Given the description of an element on the screen output the (x, y) to click on. 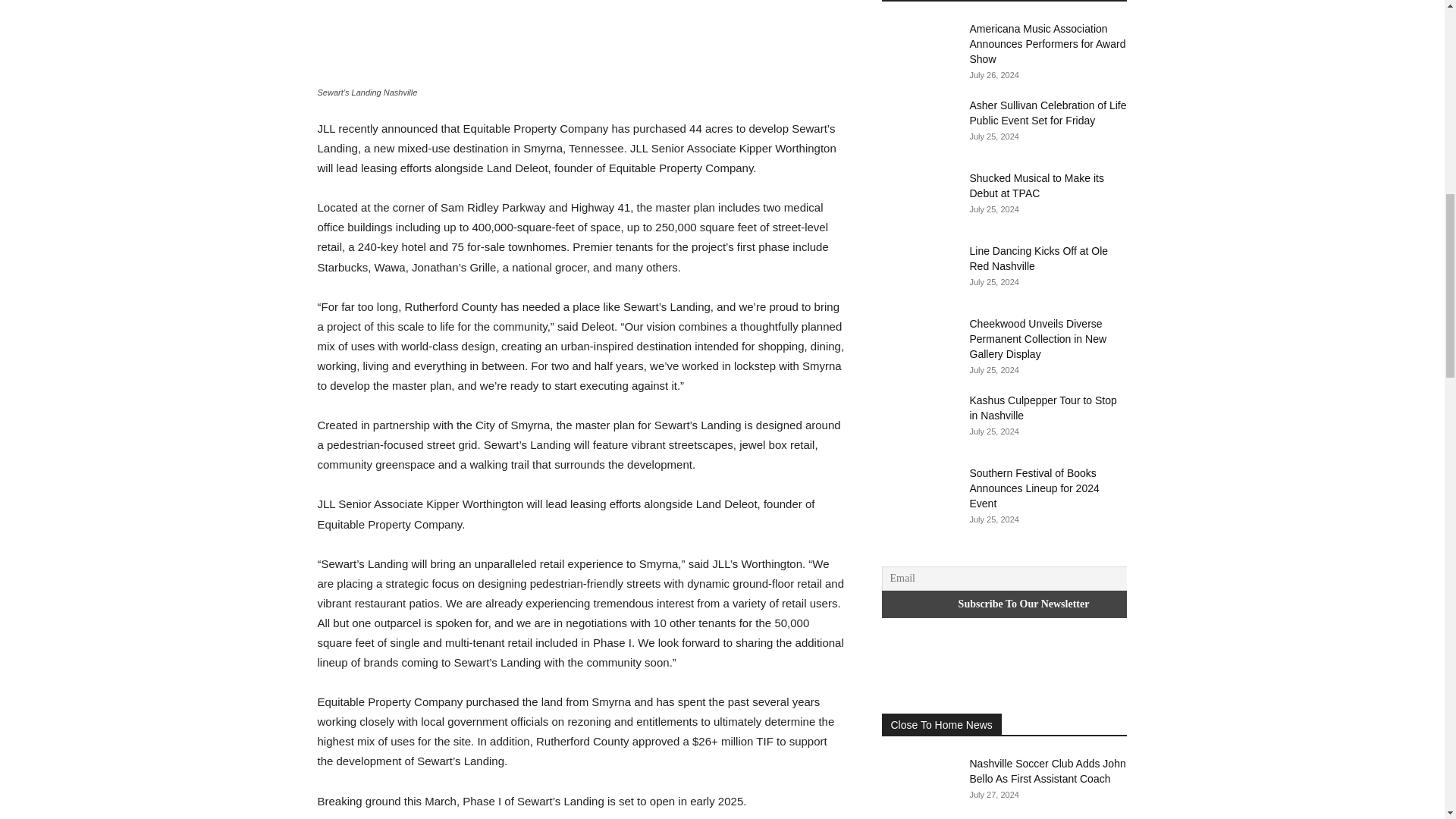
Subscribe To Our Newsletter (1023, 604)
